Given the description of an element on the screen output the (x, y) to click on. 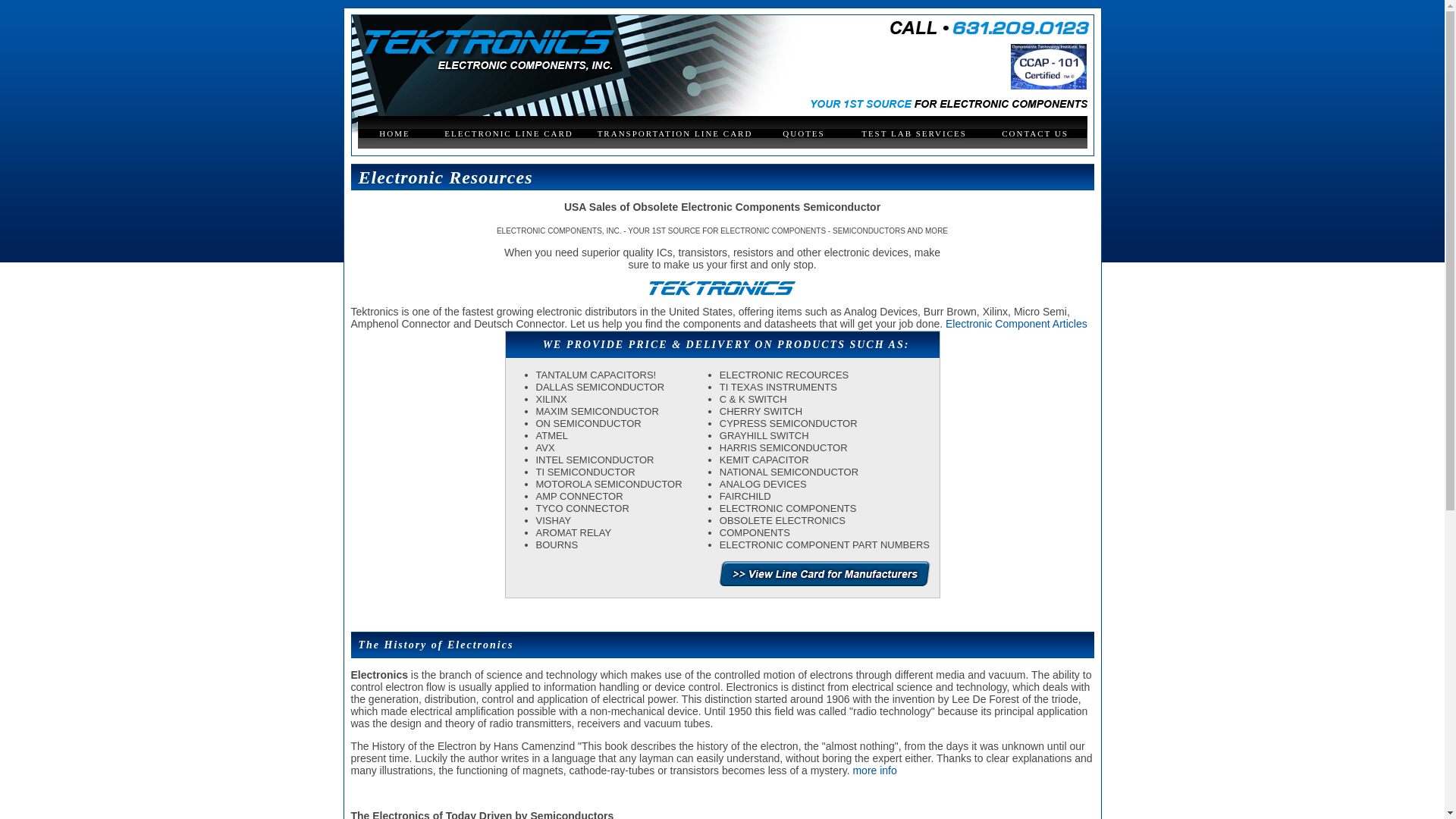
quotes (803, 133)
ELECTRONIC LINE CARD (508, 133)
HOME (394, 133)
home (394, 133)
more info (873, 770)
transportation line card (674, 133)
TRANSPORTATION LINE CARD (674, 133)
QUOTES (803, 133)
CONTACT US (1035, 133)
electronic line card (508, 133)
Electronic Component Articles (1015, 323)
TEST LAB SERVICES (914, 133)
Test Lab Services (914, 133)
contact us (1035, 133)
